Given the description of an element on the screen output the (x, y) to click on. 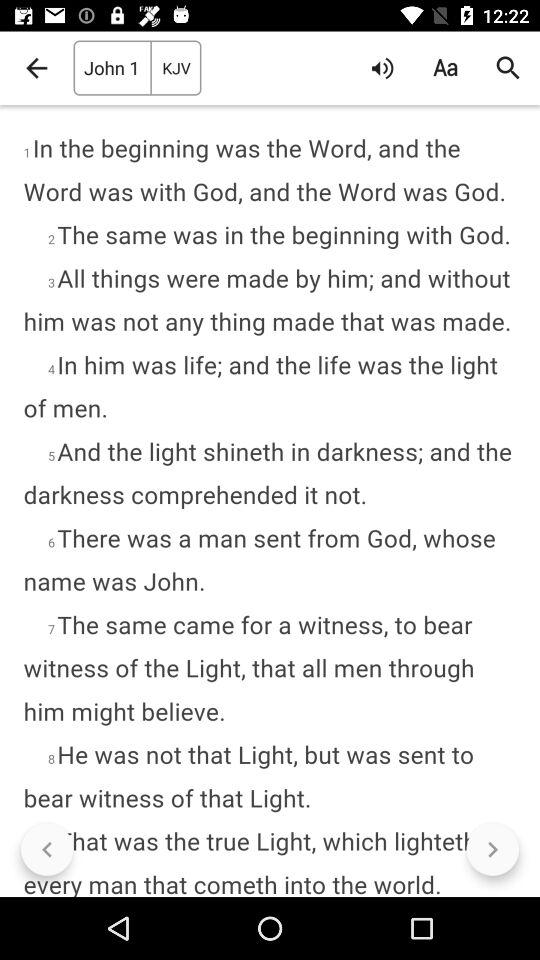
launch icon next to kjv (381, 67)
